Given the description of an element on the screen output the (x, y) to click on. 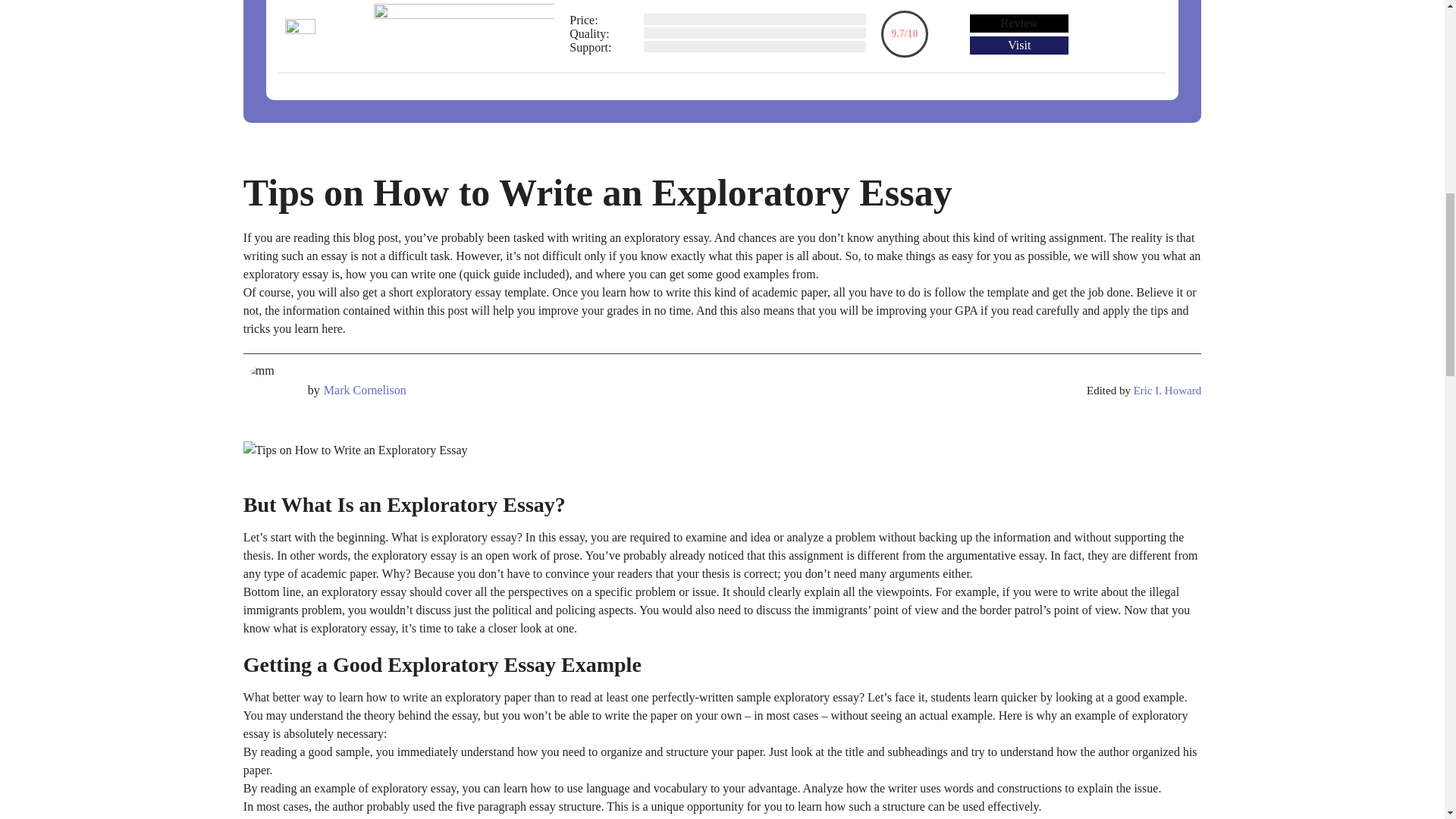
Visit (1018, 45)
Eric I. Howard (1168, 390)
Review (1018, 23)
Mark Cornelison (364, 390)
